Given the description of an element on the screen output the (x, y) to click on. 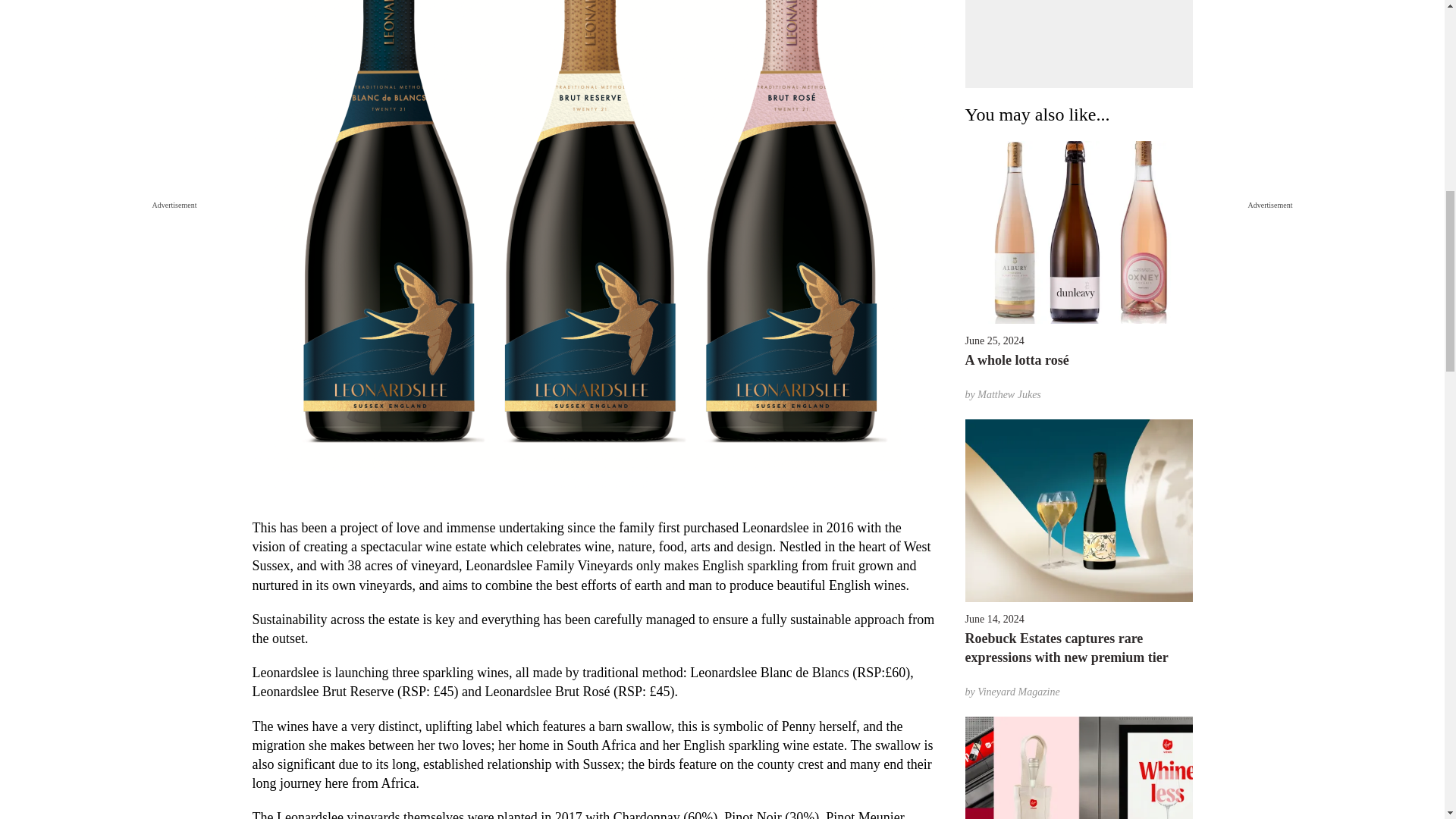
advertisement (1077, 43)
